Given the description of an element on the screen output the (x, y) to click on. 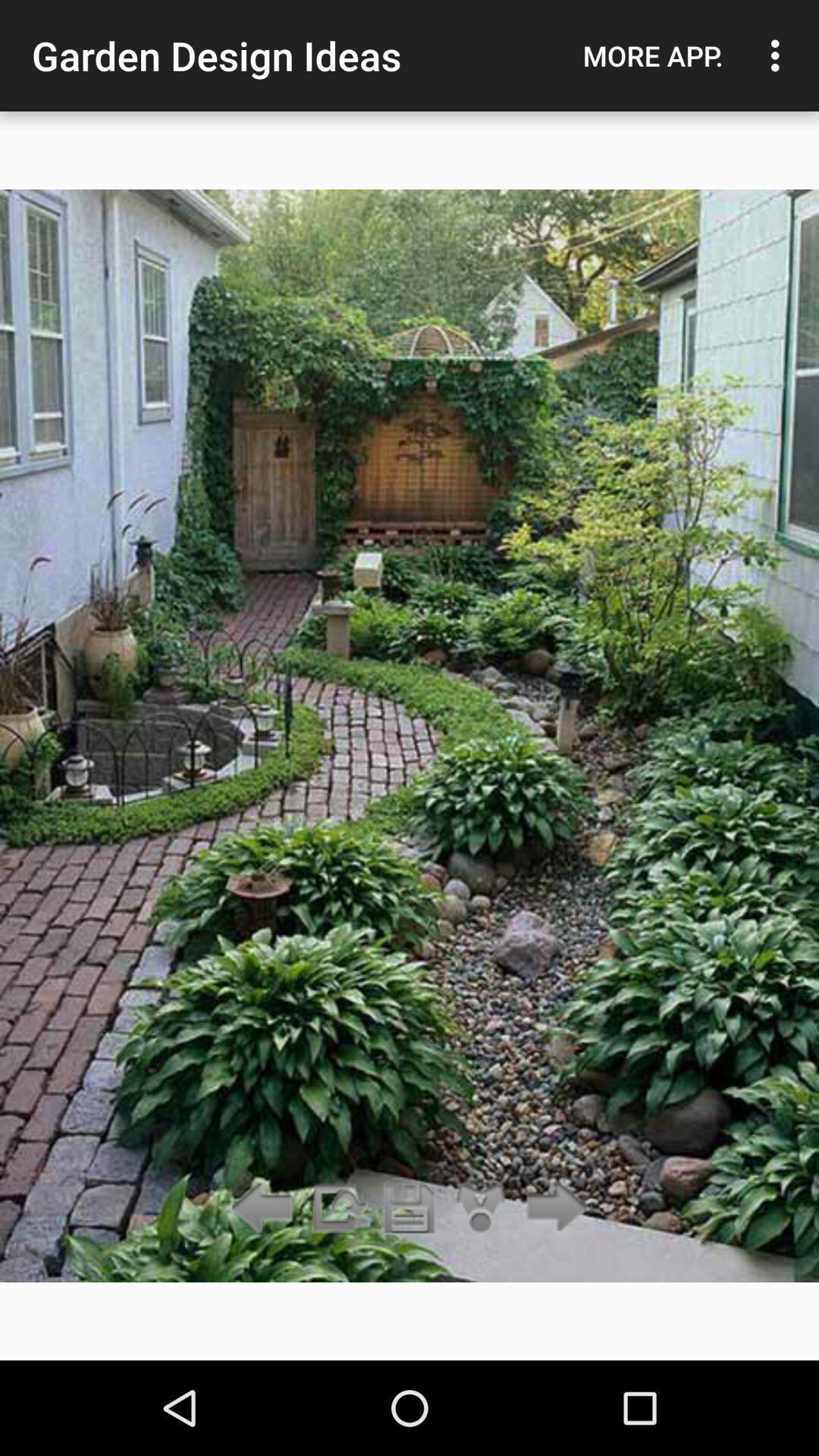
turn off the item below the garden design ideas icon (337, 1208)
